Given the description of an element on the screen output the (x, y) to click on. 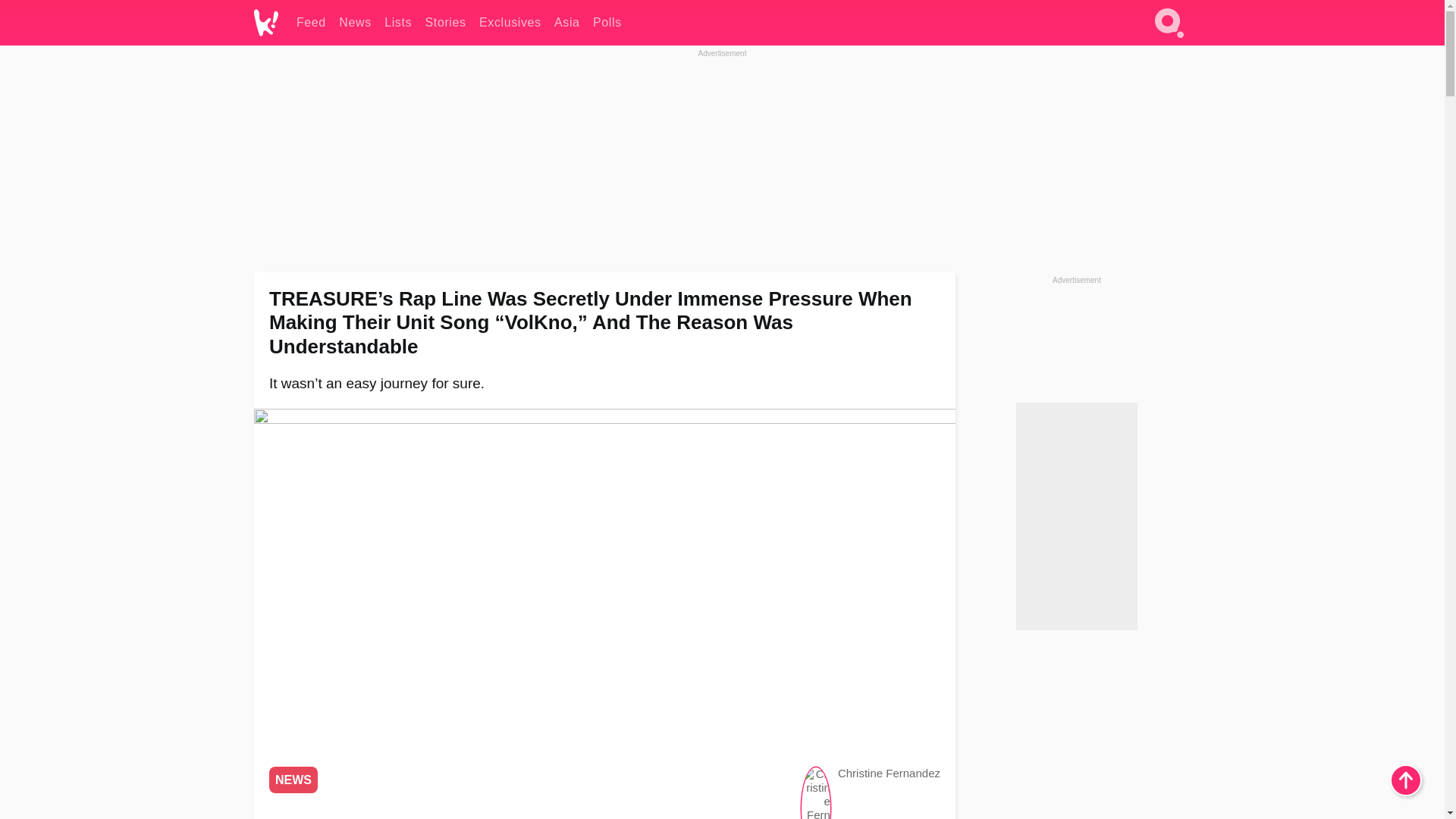
Stories (445, 22)
Christine Fernandez (889, 772)
NEWS (293, 779)
Exclusives (510, 22)
